Given the description of an element on the screen output the (x, y) to click on. 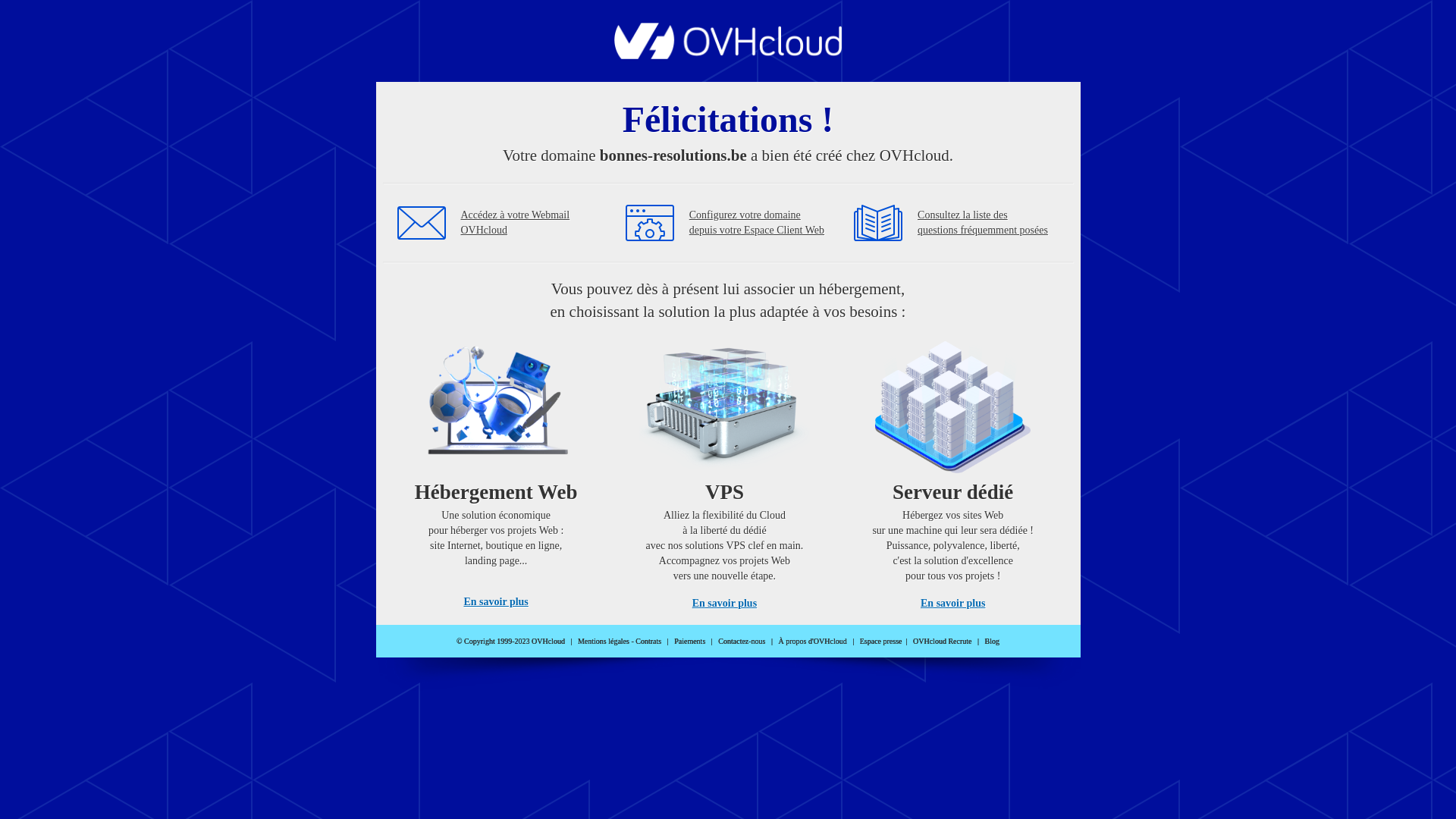
En savoir plus Element type: text (724, 602)
En savoir plus Element type: text (952, 602)
VPS Element type: hover (724, 469)
Contactez-nous Element type: text (741, 641)
En savoir plus Element type: text (495, 601)
Configurez votre domaine
depuis votre Espace Client Web Element type: text (756, 222)
Paiements Element type: text (689, 641)
Blog Element type: text (992, 641)
OVHcloud Element type: hover (727, 54)
OVHcloud Recrute Element type: text (942, 641)
Espace presse Element type: text (880, 641)
